Given the description of an element on the screen output the (x, y) to click on. 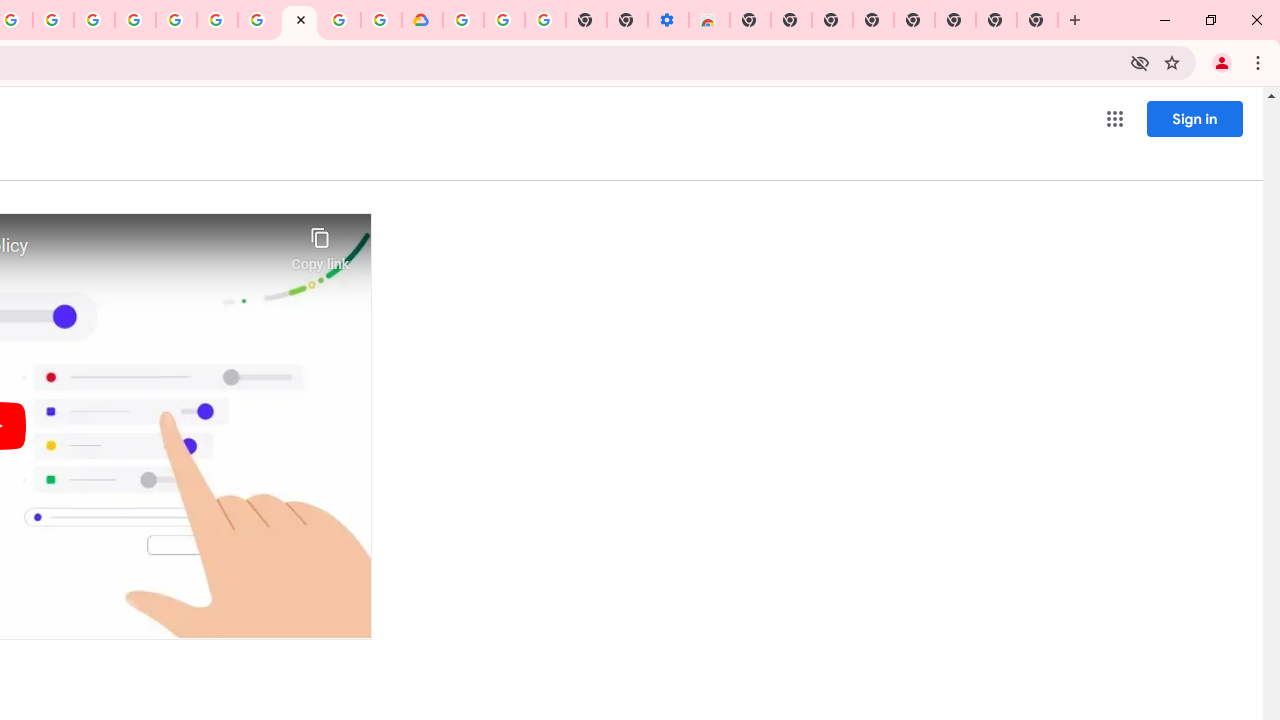
Create your Google Account (53, 20)
New Tab (1037, 20)
Settings - Accessibility (667, 20)
Sign in - Google Accounts (176, 20)
Turn cookies on or off - Computer - Google Account Help (544, 20)
Sign in - Google Accounts (462, 20)
Copy link (319, 244)
